Given the description of an element on the screen output the (x, y) to click on. 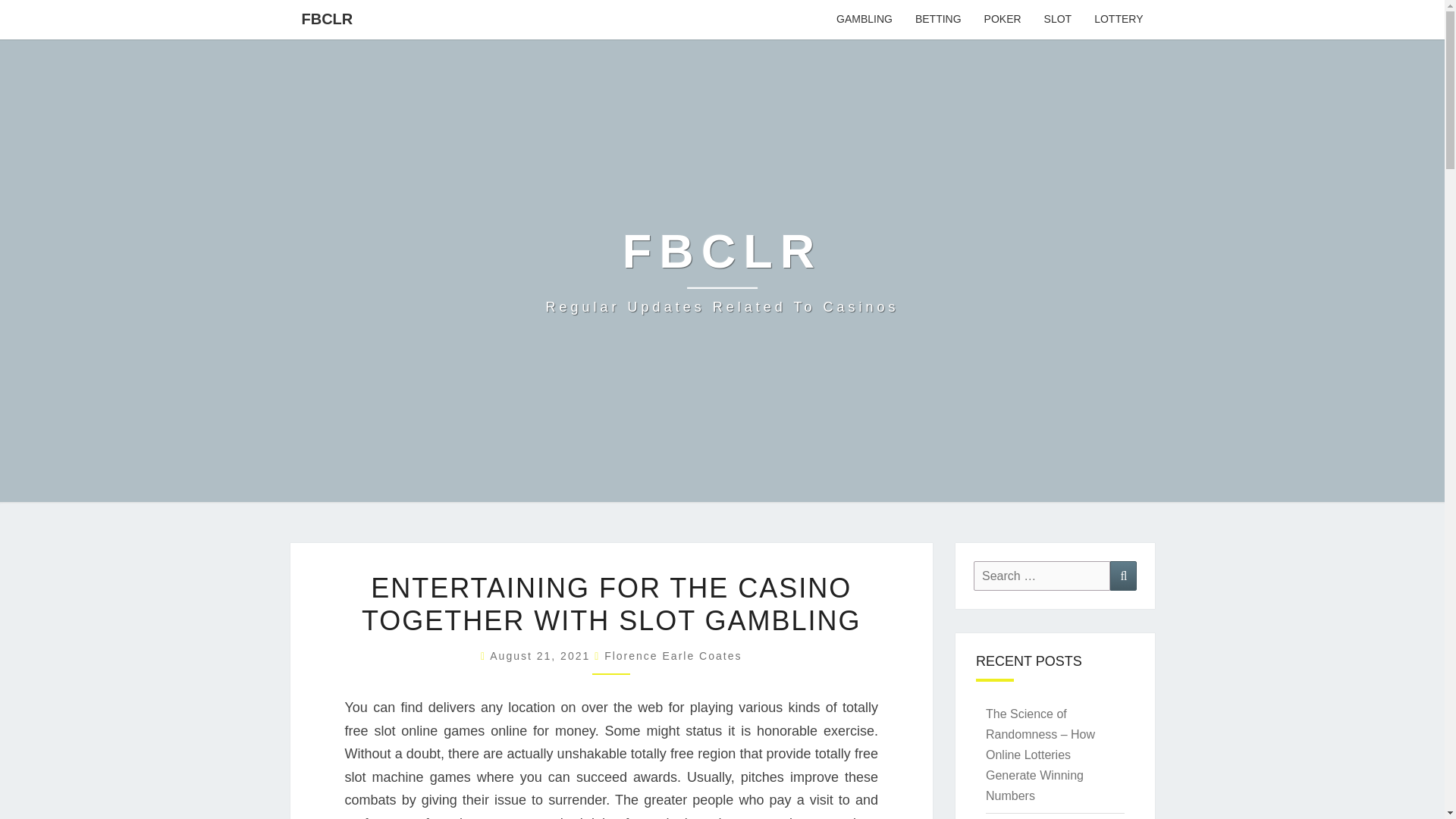
10:56 am (541, 655)
Fbclr (722, 270)
Florence Earle Coates (672, 655)
August 21, 2021 (541, 655)
FBCLR (326, 18)
GAMBLING (864, 19)
LOTTERY (1118, 19)
BETTING (938, 19)
POKER (1002, 19)
SLOT (1057, 19)
